Given the description of an element on the screen output the (x, y) to click on. 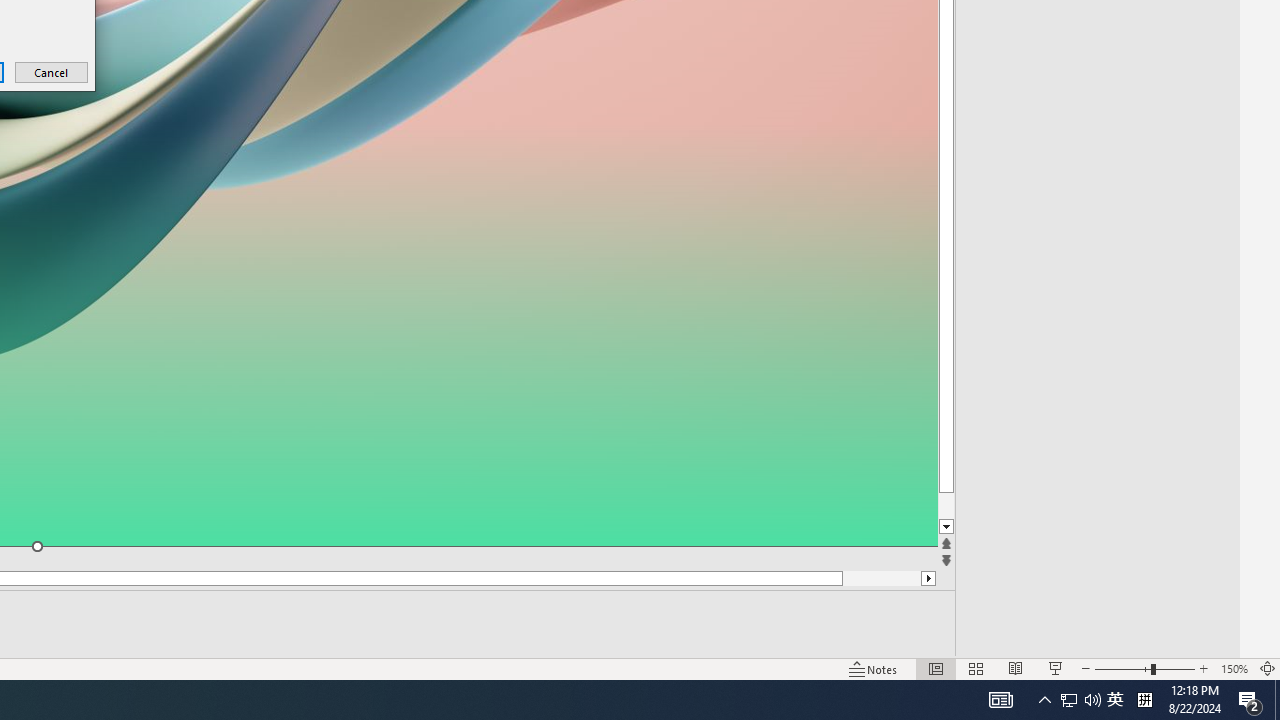
Cancel (51, 72)
Zoom 150% (1234, 668)
Tray Input Indicator - Chinese (Simplified, China) (1144, 699)
User Promoted Notification Area (1080, 699)
